Given the description of an element on the screen output the (x, y) to click on. 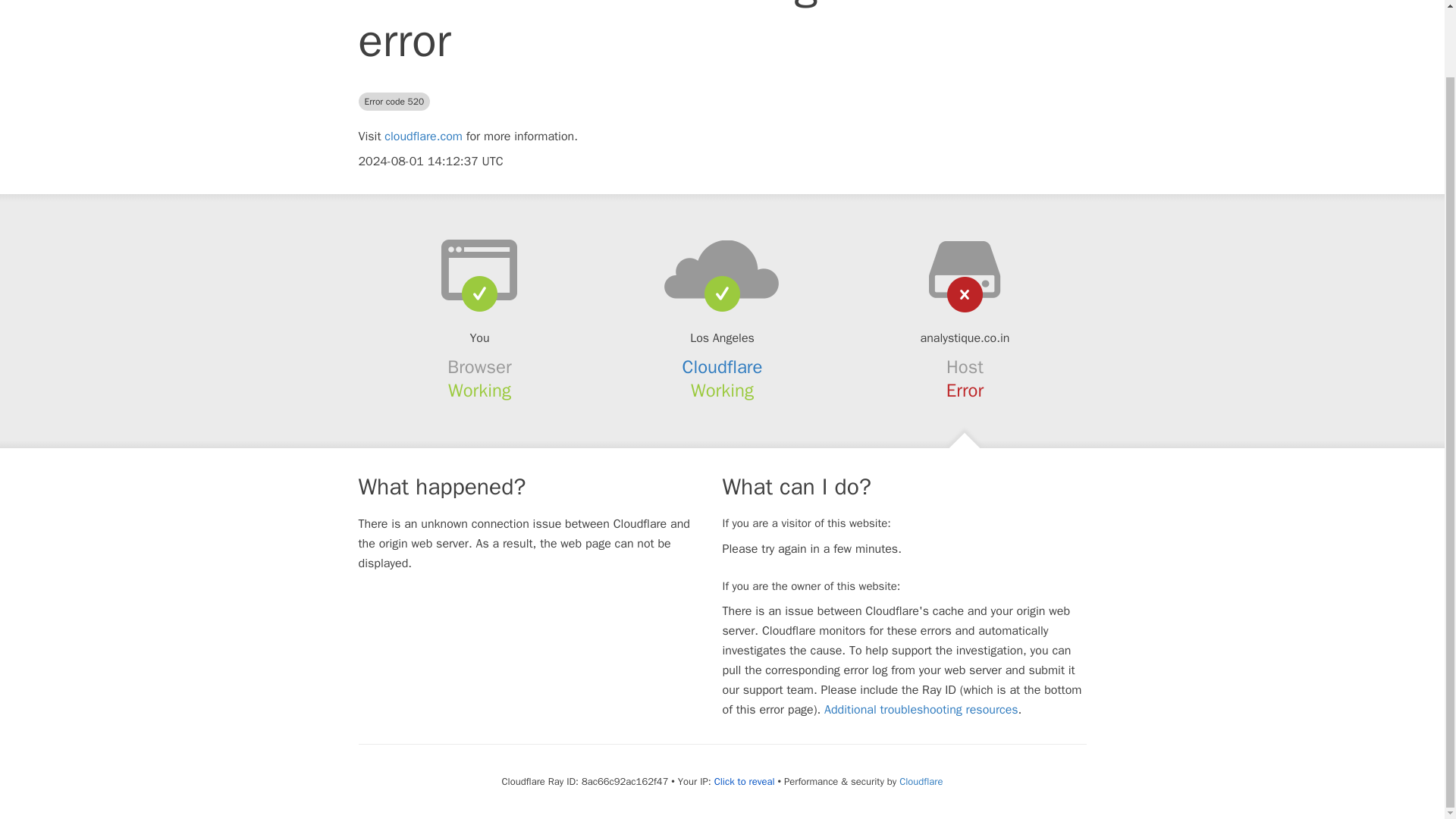
Cloudflare (722, 366)
cloudflare.com (423, 136)
Cloudflare (920, 780)
Additional troubleshooting resources (920, 709)
Click to reveal (744, 781)
